Given the description of an element on the screen output the (x, y) to click on. 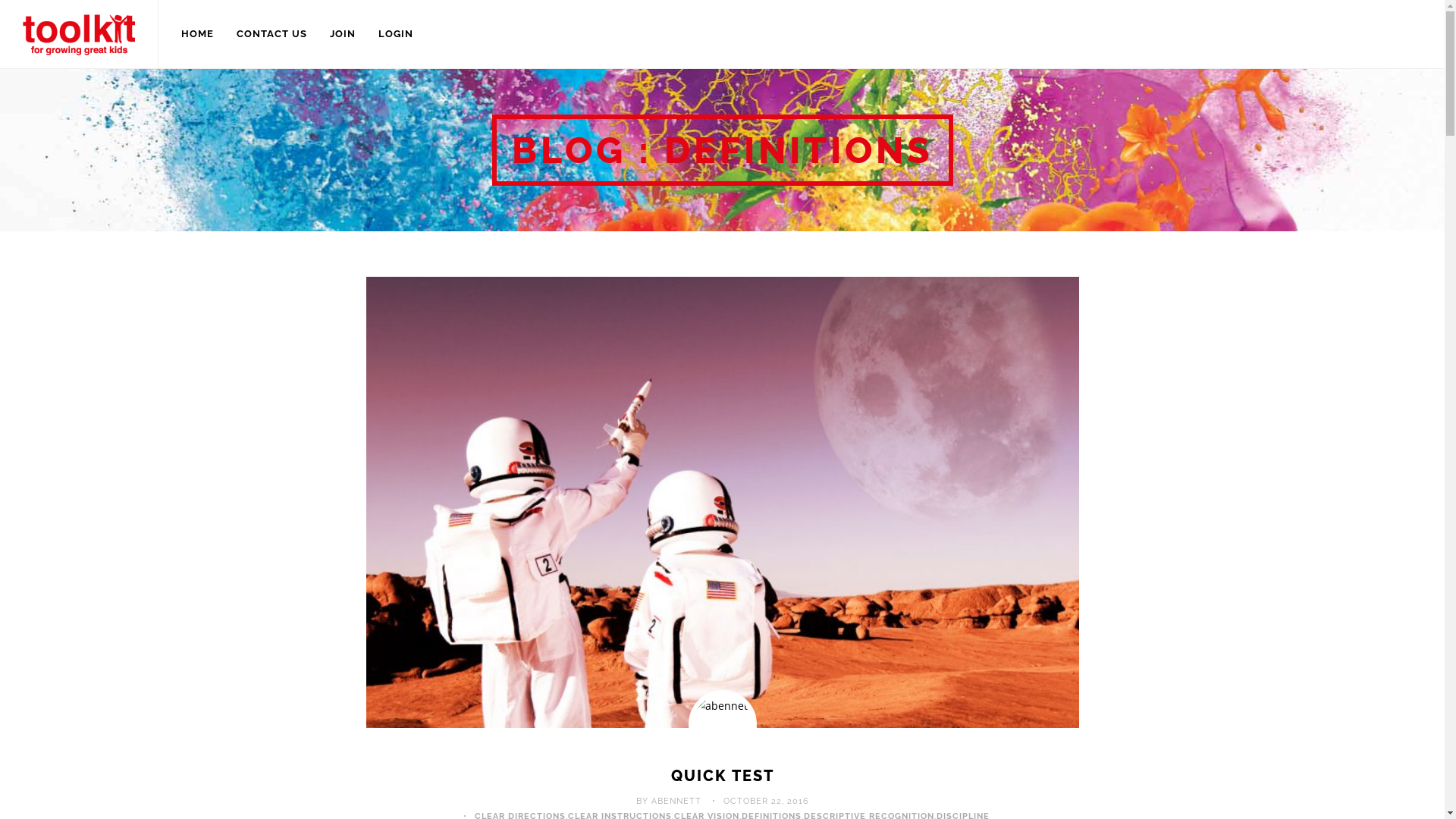
QUICK TEST Element type: text (721, 775)
JOIN Element type: text (342, 33)
CONTACT US Element type: text (271, 33)
LOGIN Element type: text (395, 33)
HOME Element type: text (197, 33)
